Given the description of an element on the screen output the (x, y) to click on. 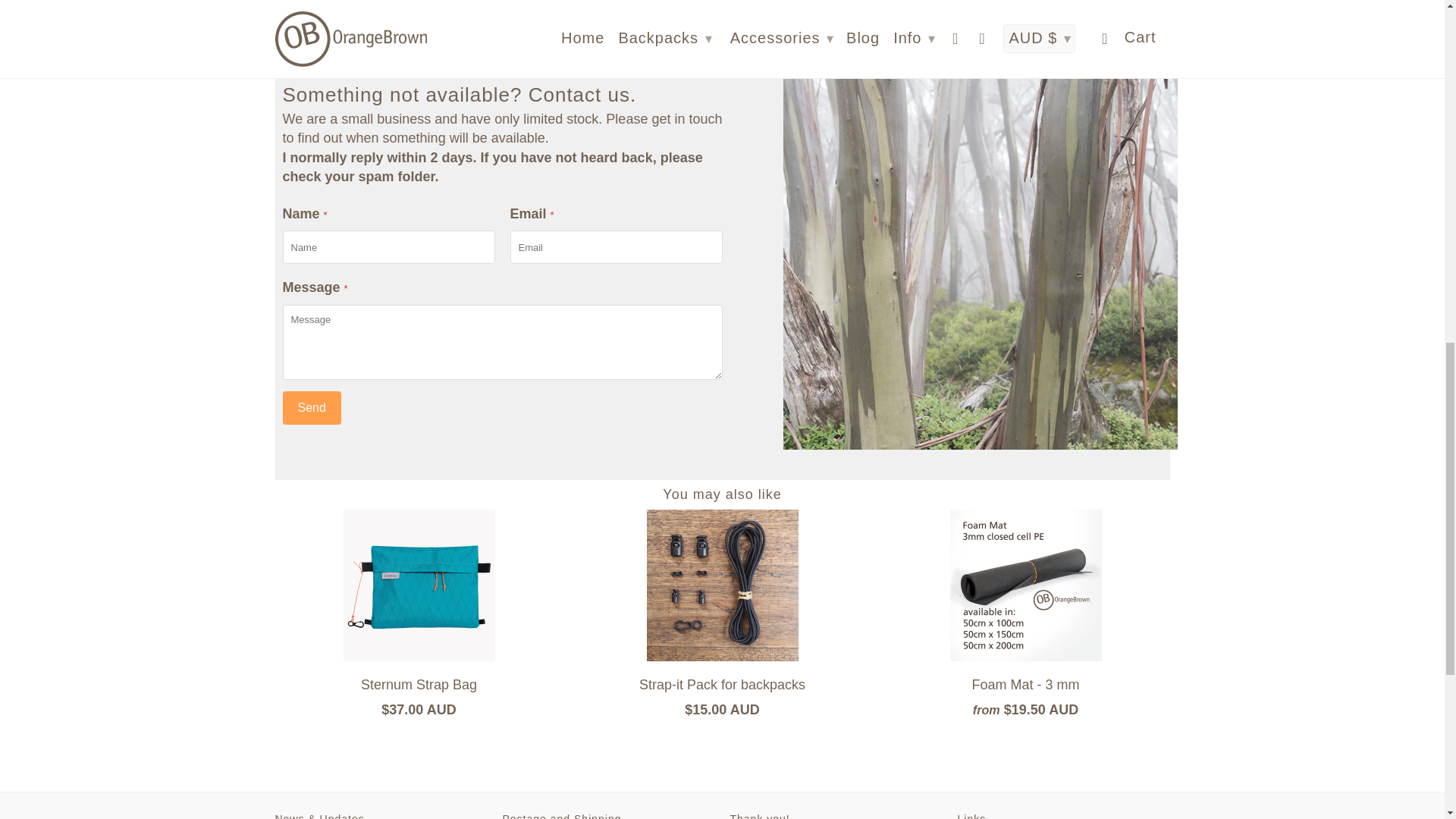
Send (311, 408)
